Given the description of an element on the screen output the (x, y) to click on. 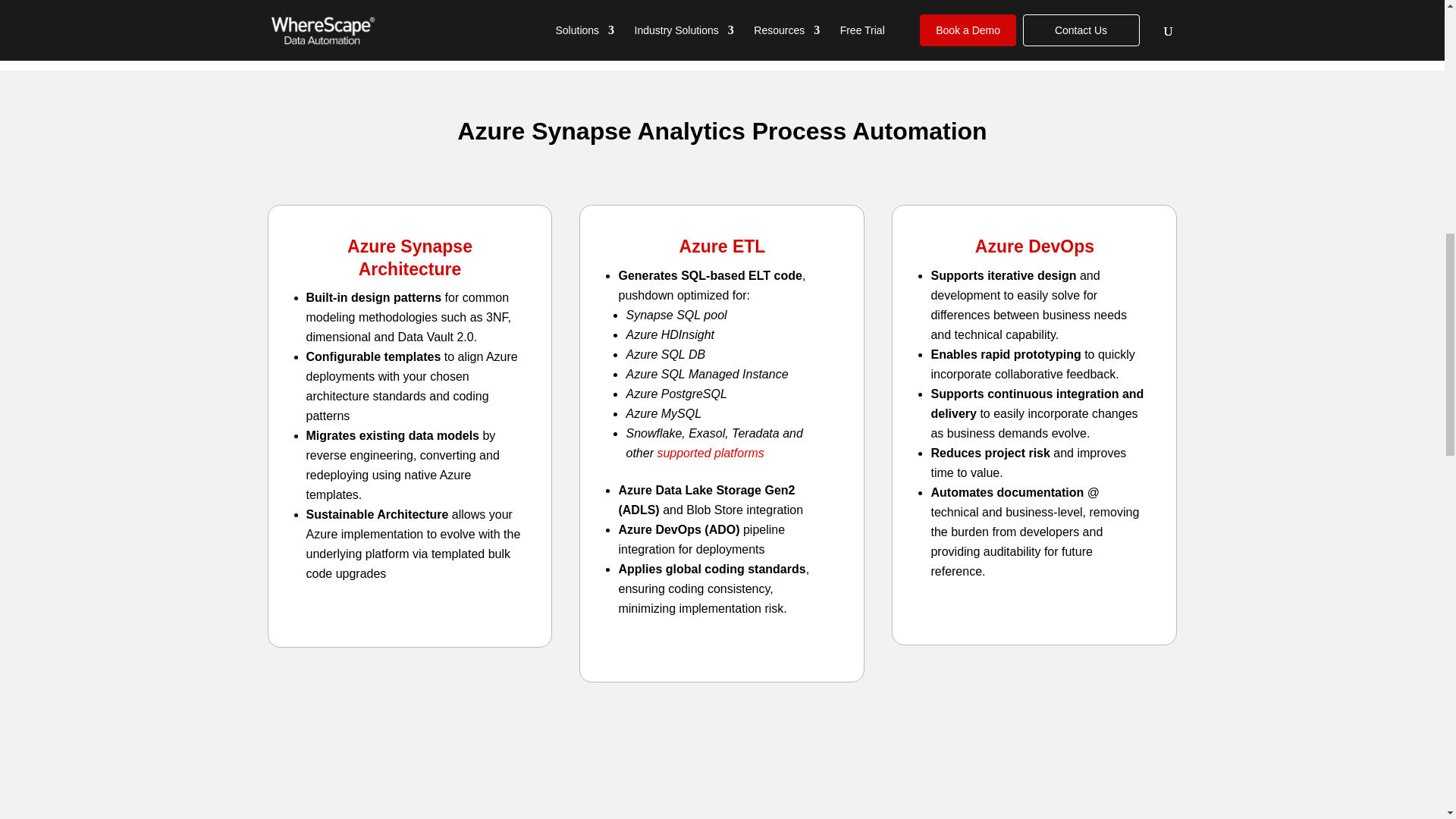
WhereScape automation for Azure animation (722, 773)
